Given the description of an element on the screen output the (x, y) to click on. 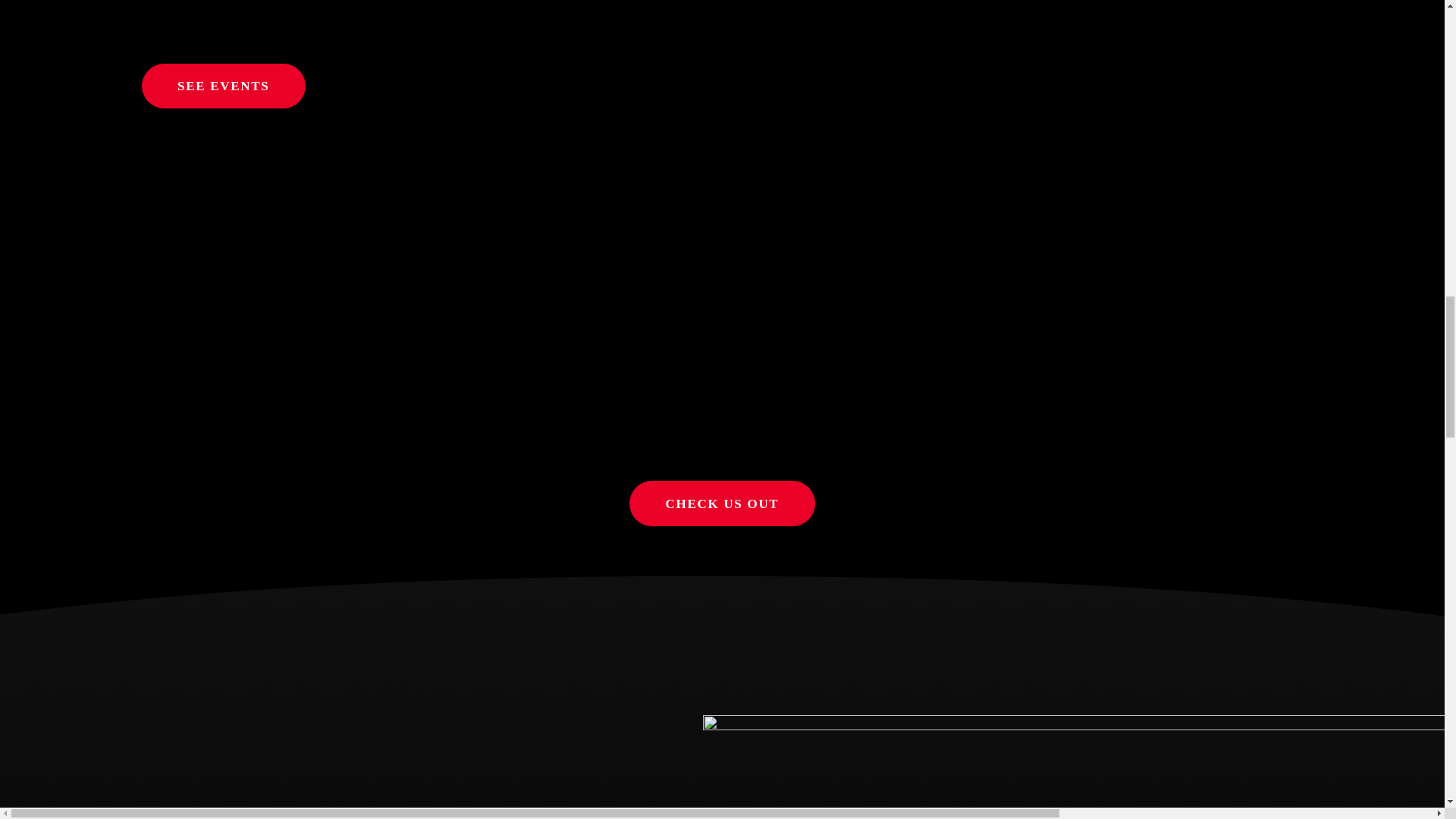
CHECK US OUT (721, 502)
SEE EVENTS (223, 85)
